Given the description of an element on the screen output the (x, y) to click on. 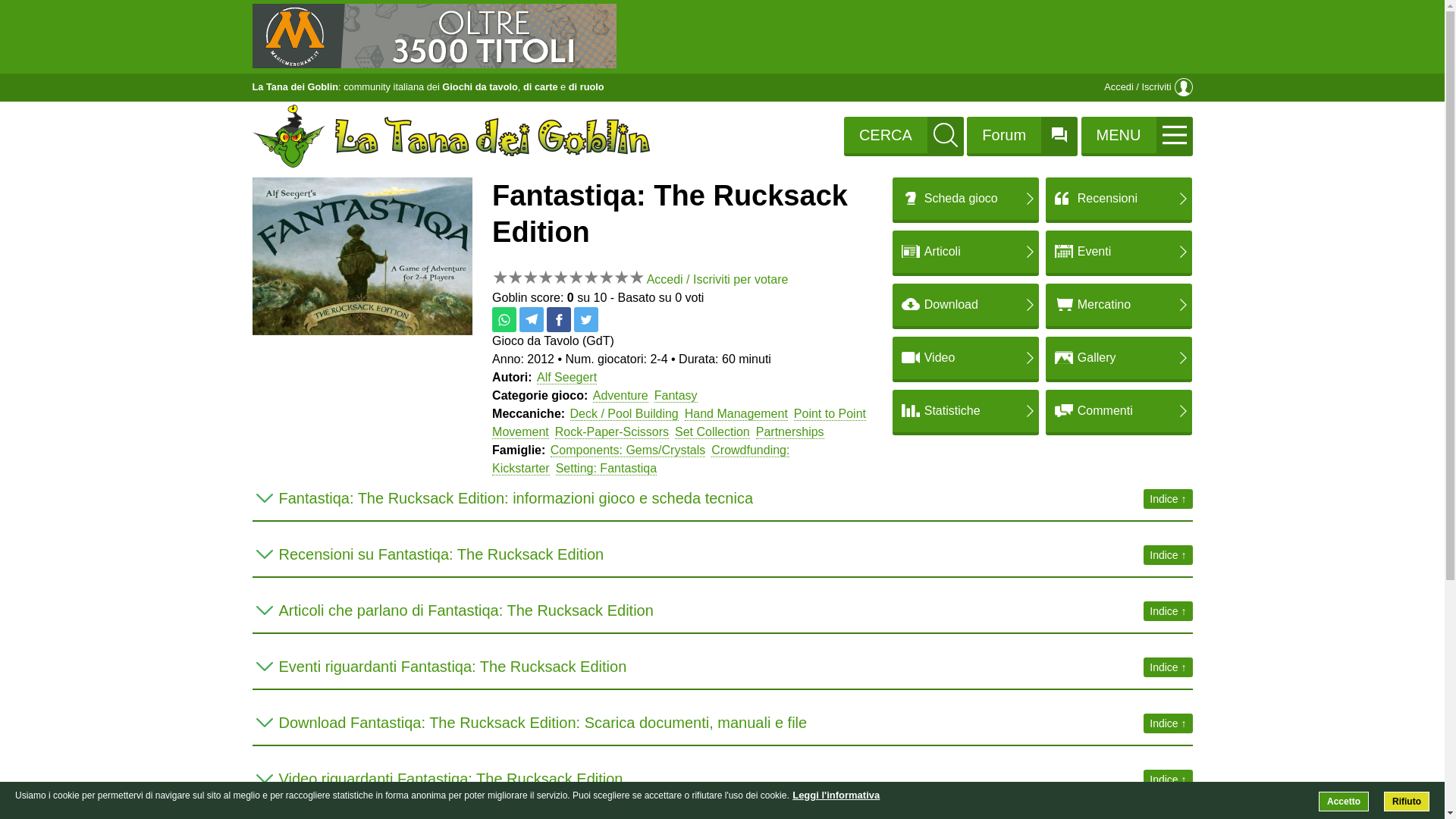
Point to Point Movement (679, 422)
Statistiche (965, 410)
Hand Management (735, 413)
Fantastiqa: The Rucksack Edition (361, 330)
Fantasy (675, 395)
Partnerships (789, 431)
La Tana dei Goblin (294, 86)
Crowdfunding: Kickstarter (640, 459)
Tutto sui Giochi da Tavolo (294, 86)
Adventure (619, 395)
Recensioni (1118, 198)
Scheda gioco (965, 198)
Download (965, 304)
Video (965, 357)
Setting: Fantastiqa (606, 468)
